Given the description of an element on the screen output the (x, y) to click on. 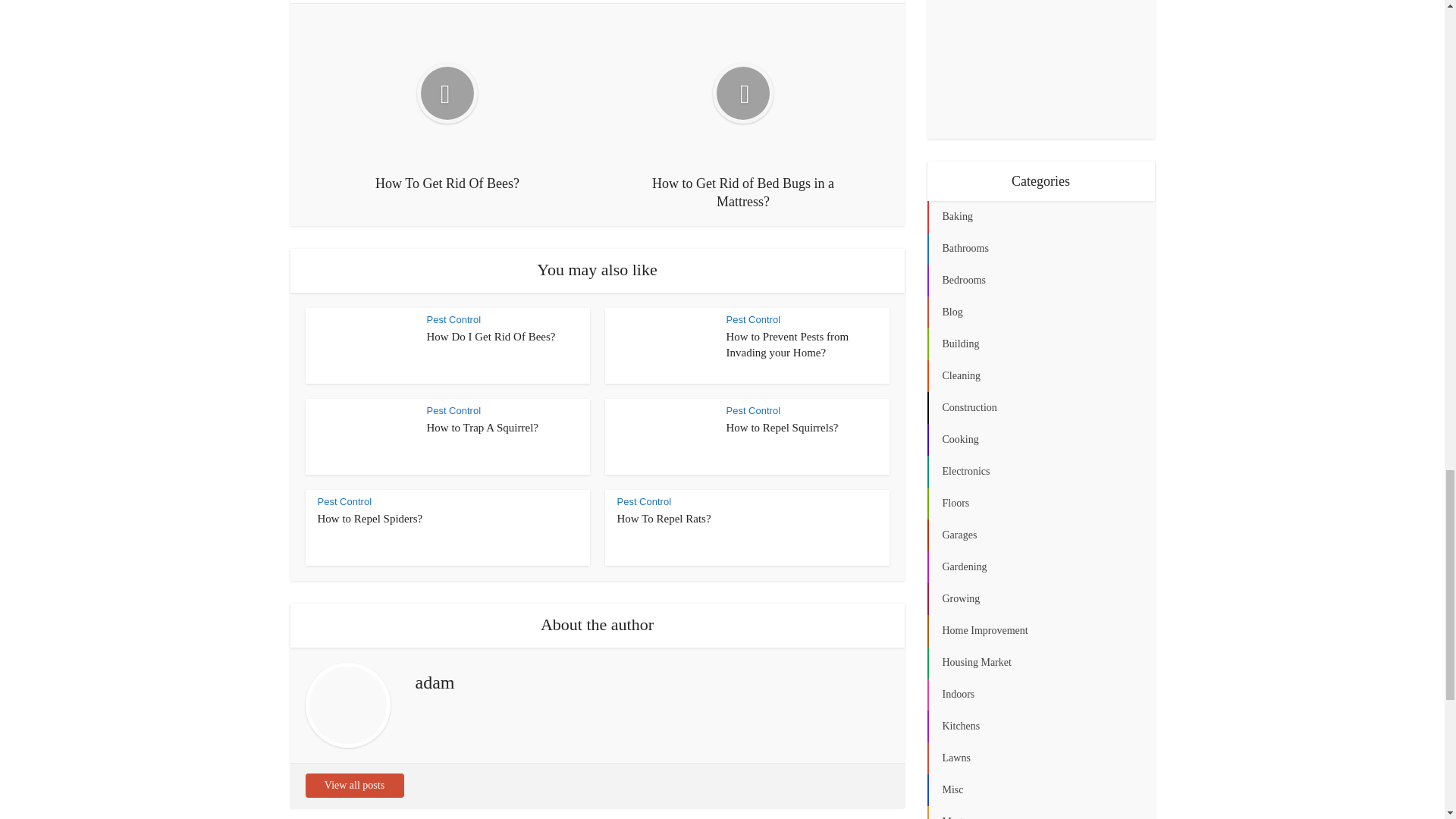
How to Repel Spiders? (369, 518)
Pest Control (753, 410)
How To Repel Rats? (664, 518)
Pest Control (344, 501)
How to Trap A Squirrel? (482, 427)
How to Repel Spiders? (369, 518)
Pest Control (453, 319)
How to Repel Squirrels? (782, 427)
How To Get Rid Of Bees? (446, 105)
How to Get Rid of Bed Bugs in a Mattress? (742, 114)
